Given the description of an element on the screen output the (x, y) to click on. 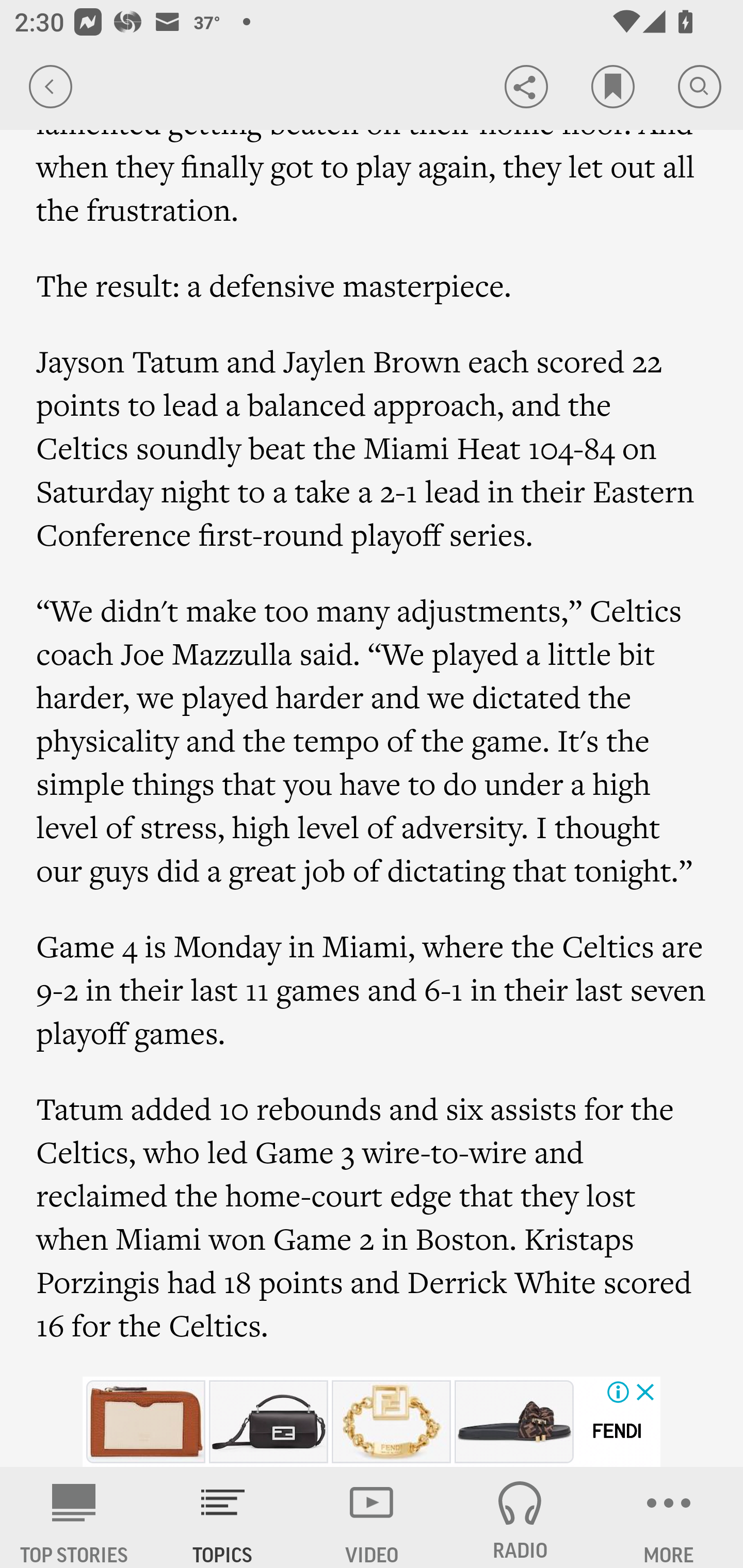
fendi-feel-brown-satin-slides-8x8142ae7sf0r7v (513, 1420)
AP News TOP STORIES (74, 1517)
TOPICS (222, 1517)
VIDEO (371, 1517)
RADIO (519, 1517)
MORE (668, 1517)
